Given the description of an element on the screen output the (x, y) to click on. 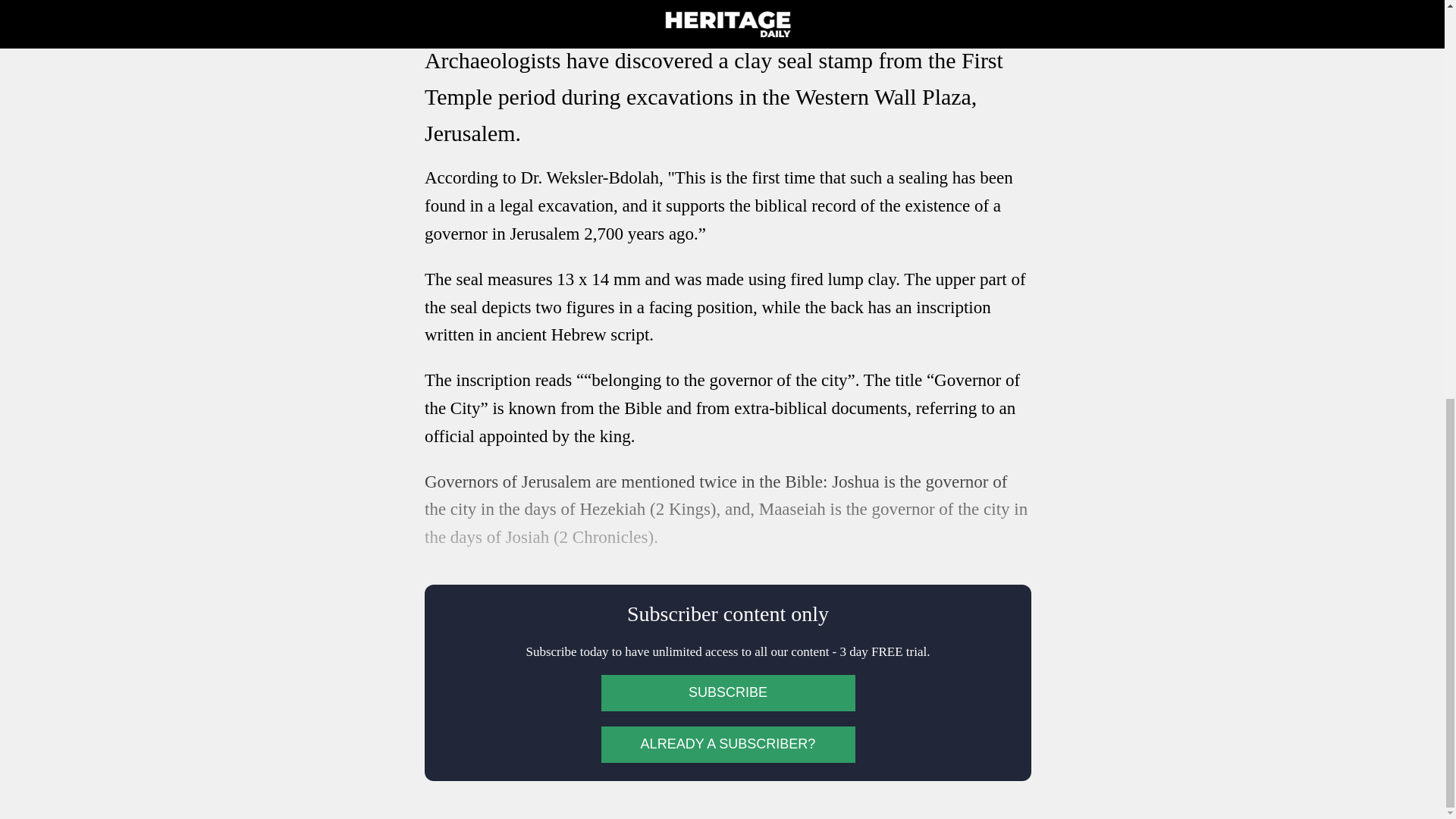
ALREADY A SUBSCRIBER? (726, 744)
SUBSCRIBE (726, 692)
Clay seal stamp from First Temple period found in Jerusalem (727, 8)
